Given the description of an element on the screen output the (x, y) to click on. 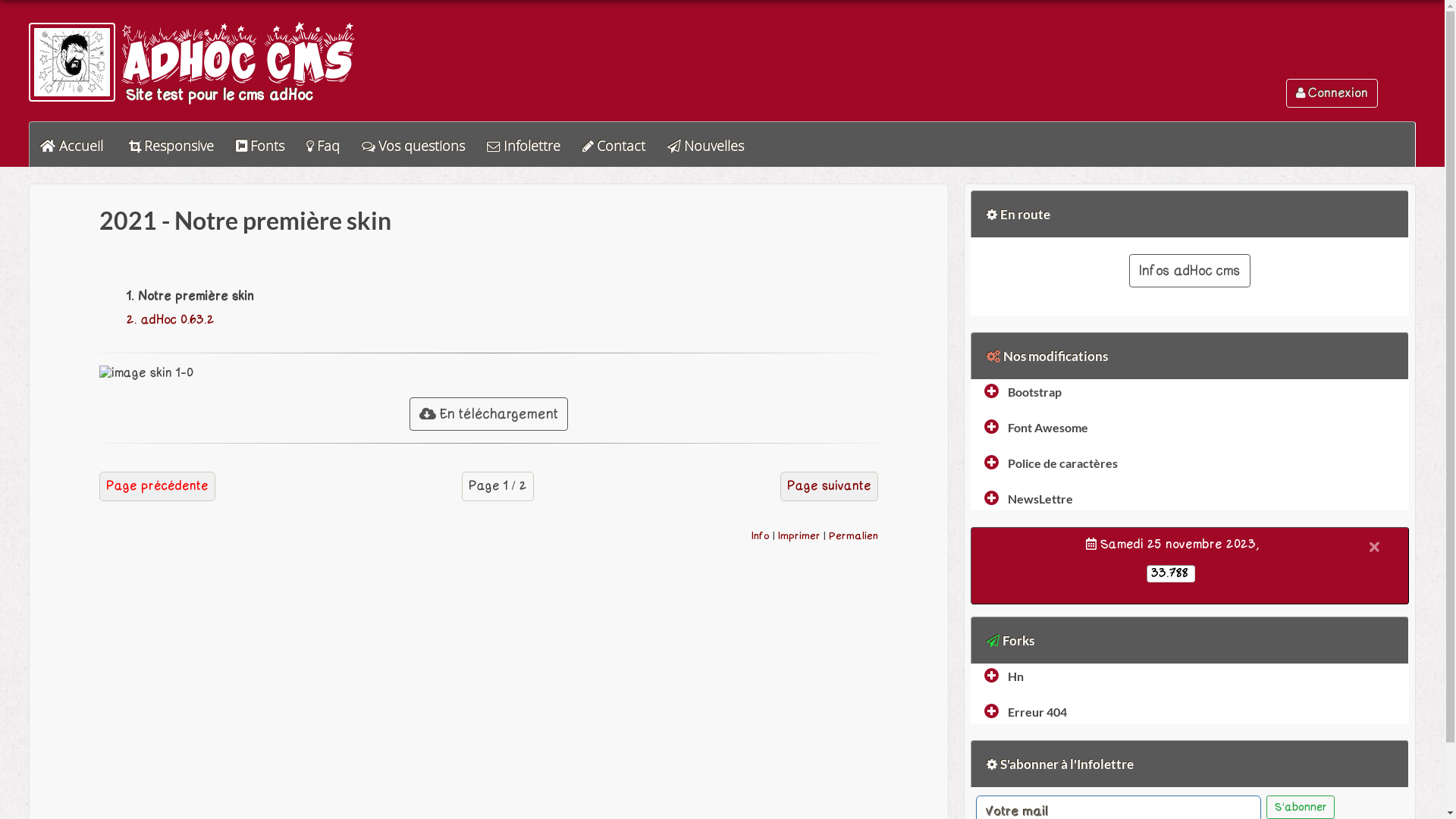
Responsive Element type: text (171, 146)
Imprimer Element type: text (799, 535)
Contact Element type: text (613, 146)
Fonts Element type: text (259, 146)
Infos adHoc cms Element type: text (1189, 270)
Nouvelles Element type: text (705, 146)
Page suivante Element type: text (829, 485)
Faq Element type: text (322, 146)
Info Element type: text (760, 535)
Connexion Element type: text (1331, 92)
Permalien Element type: text (853, 535)
Infolettre Element type: text (523, 146)
adhoc.babelleir.be Element type: hover (71, 61)
Vos questions Element type: text (413, 146)
2. adHoc 0.63.2 Element type: text (170, 319)
Accueil Element type: text (70, 145)
